Given the description of an element on the screen output the (x, y) to click on. 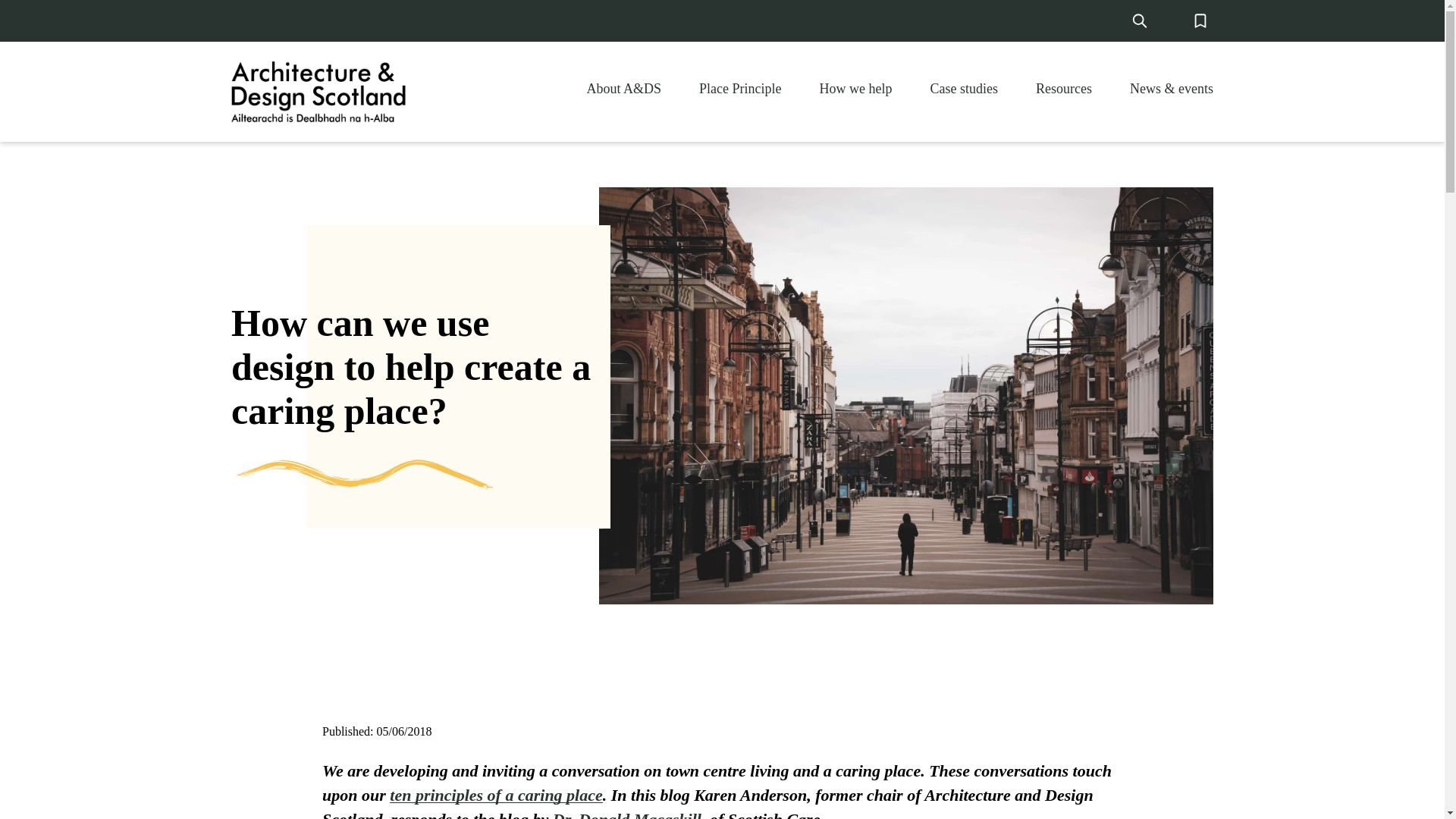
Search Button (1139, 20)
Dr. Donald Macaskill (627, 814)
Resources (1063, 87)
Place Principle (739, 87)
How we help (855, 87)
Favorites (1199, 20)
ten principles of a caring place (496, 794)
Case studies (964, 87)
